Given the description of an element on the screen output the (x, y) to click on. 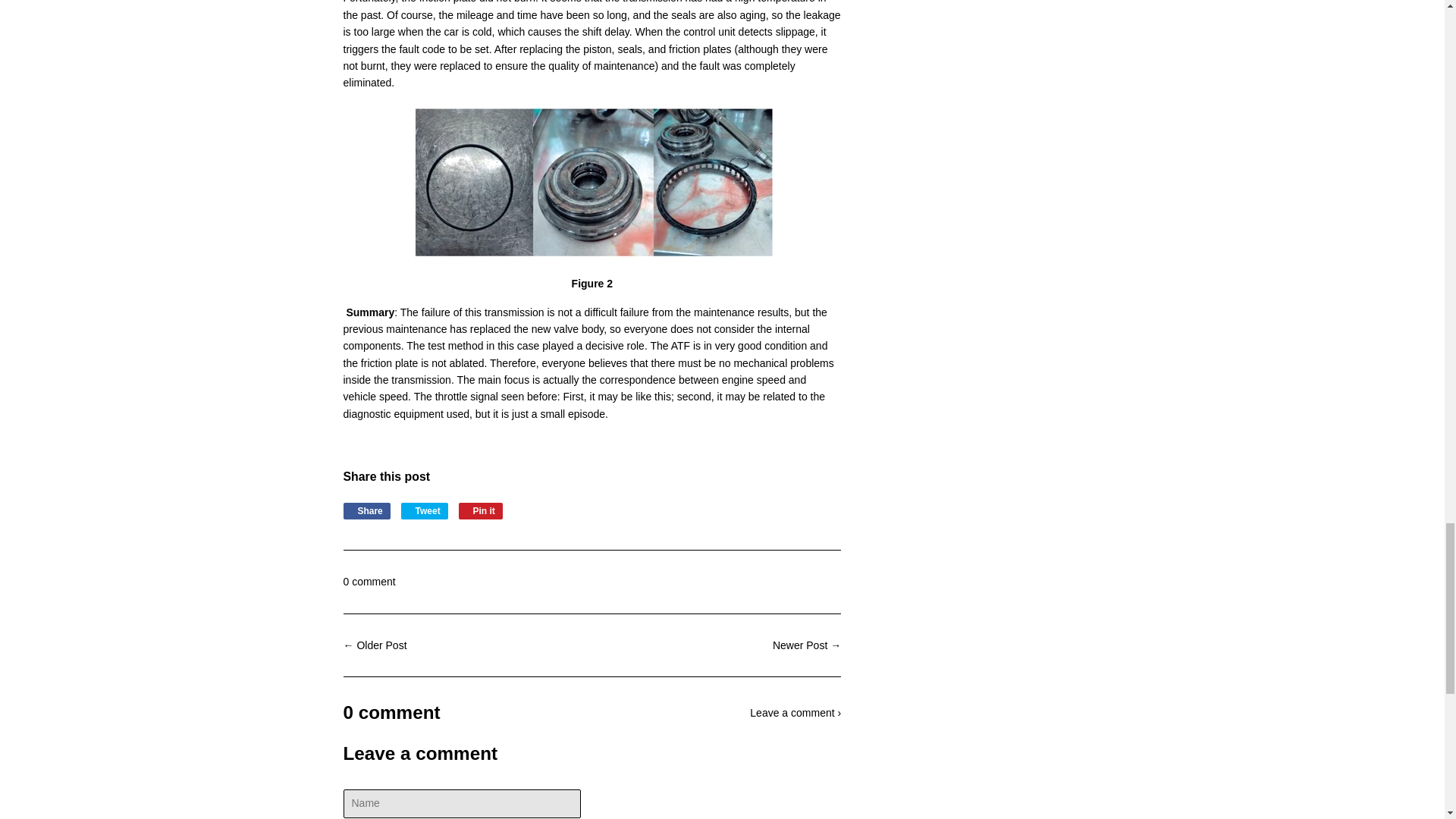
0 comment (480, 510)
Pin on Pinterest (368, 581)
Share on Facebook (480, 510)
Tweet on Twitter (366, 510)
